Given the description of an element on the screen output the (x, y) to click on. 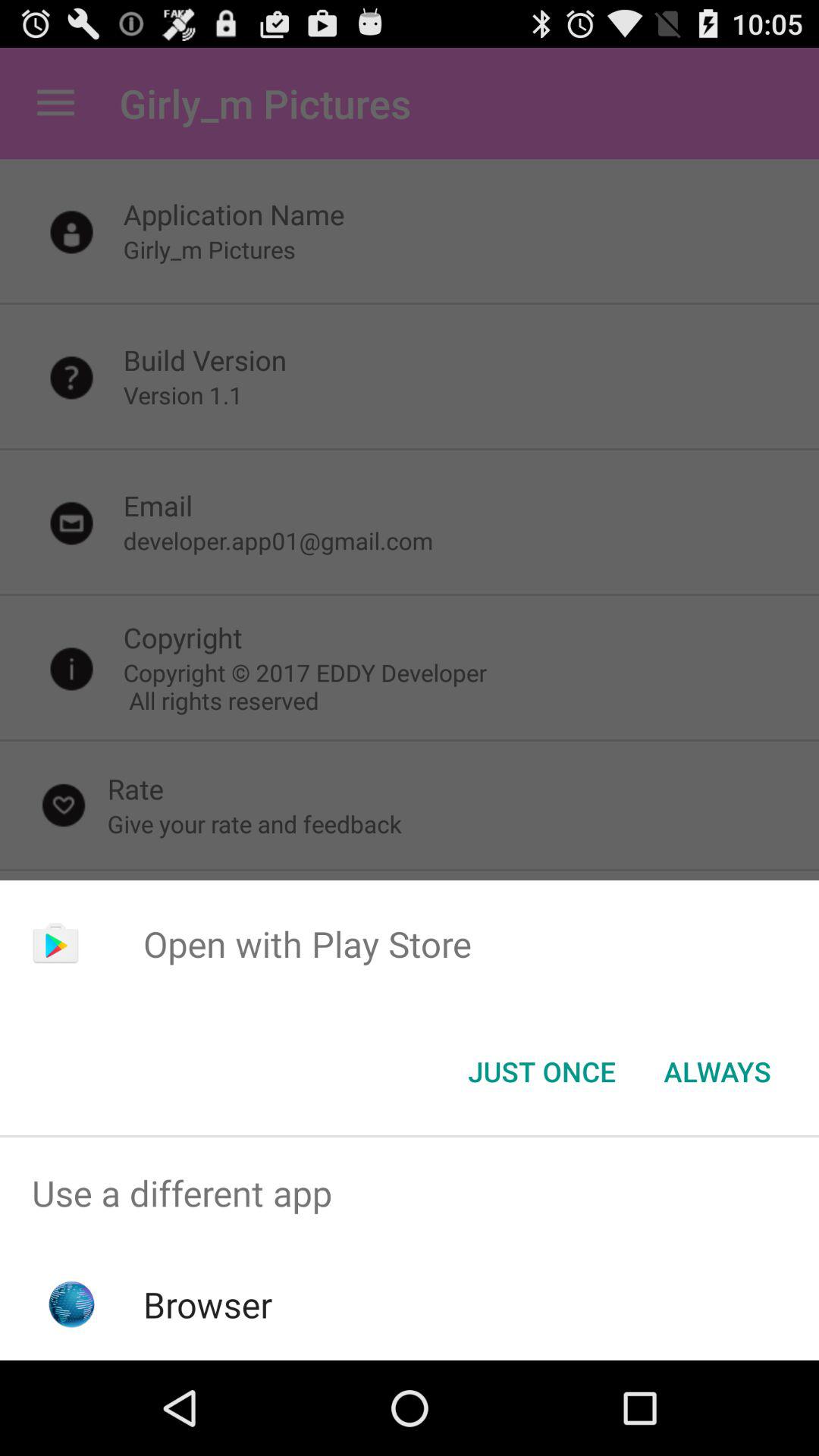
select the item next to always button (541, 1071)
